Given the description of an element on the screen output the (x, y) to click on. 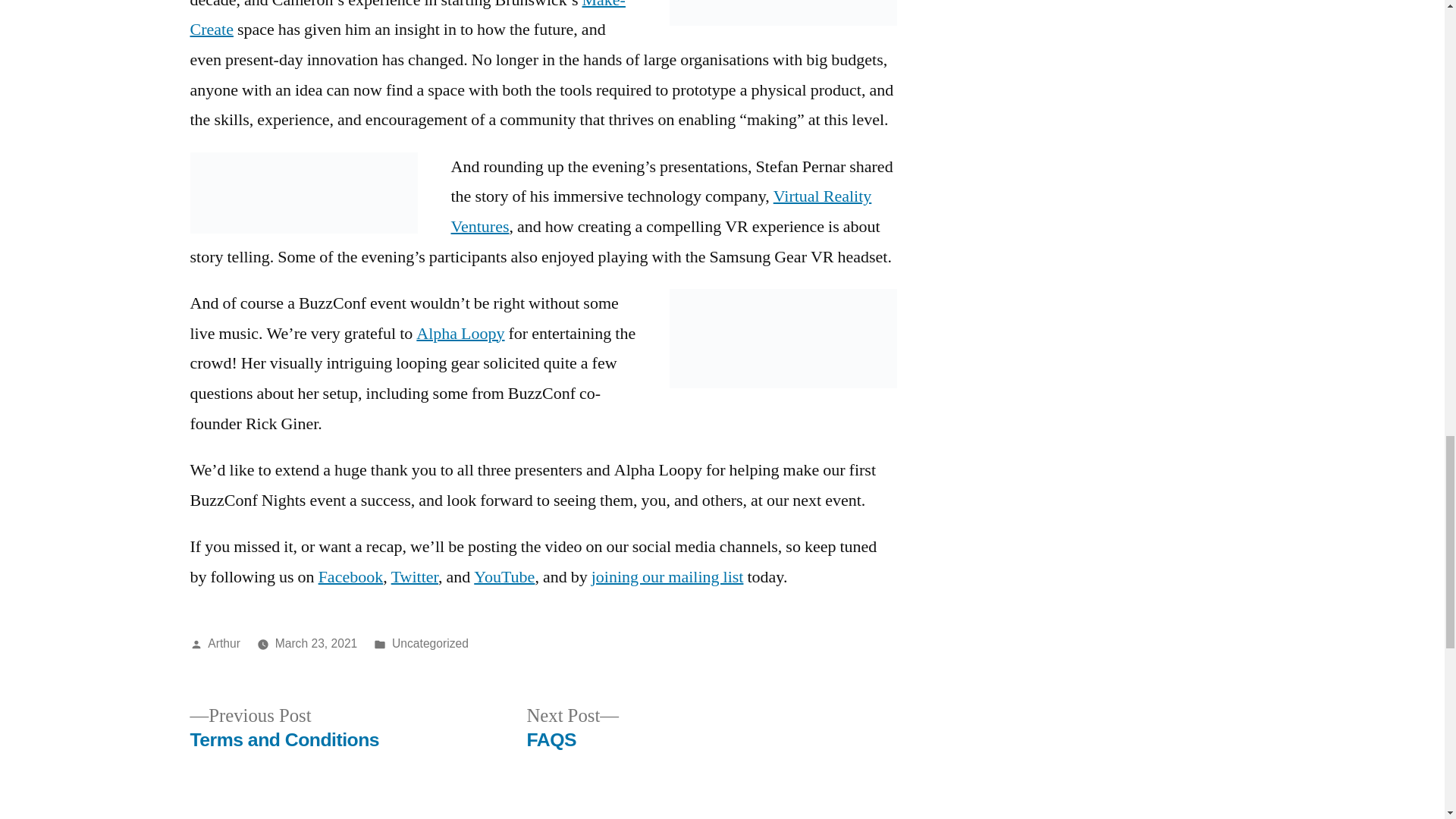
joining our mailing list (667, 577)
Twitter (414, 577)
Make-Create (406, 20)
YouTube (504, 577)
March 23, 2021 (316, 643)
Alpha Loopy (459, 332)
Facebook (351, 577)
Uncategorized (429, 643)
Arthur (283, 728)
Virtual Reality Ventures (224, 643)
